Given the description of an element on the screen output the (x, y) to click on. 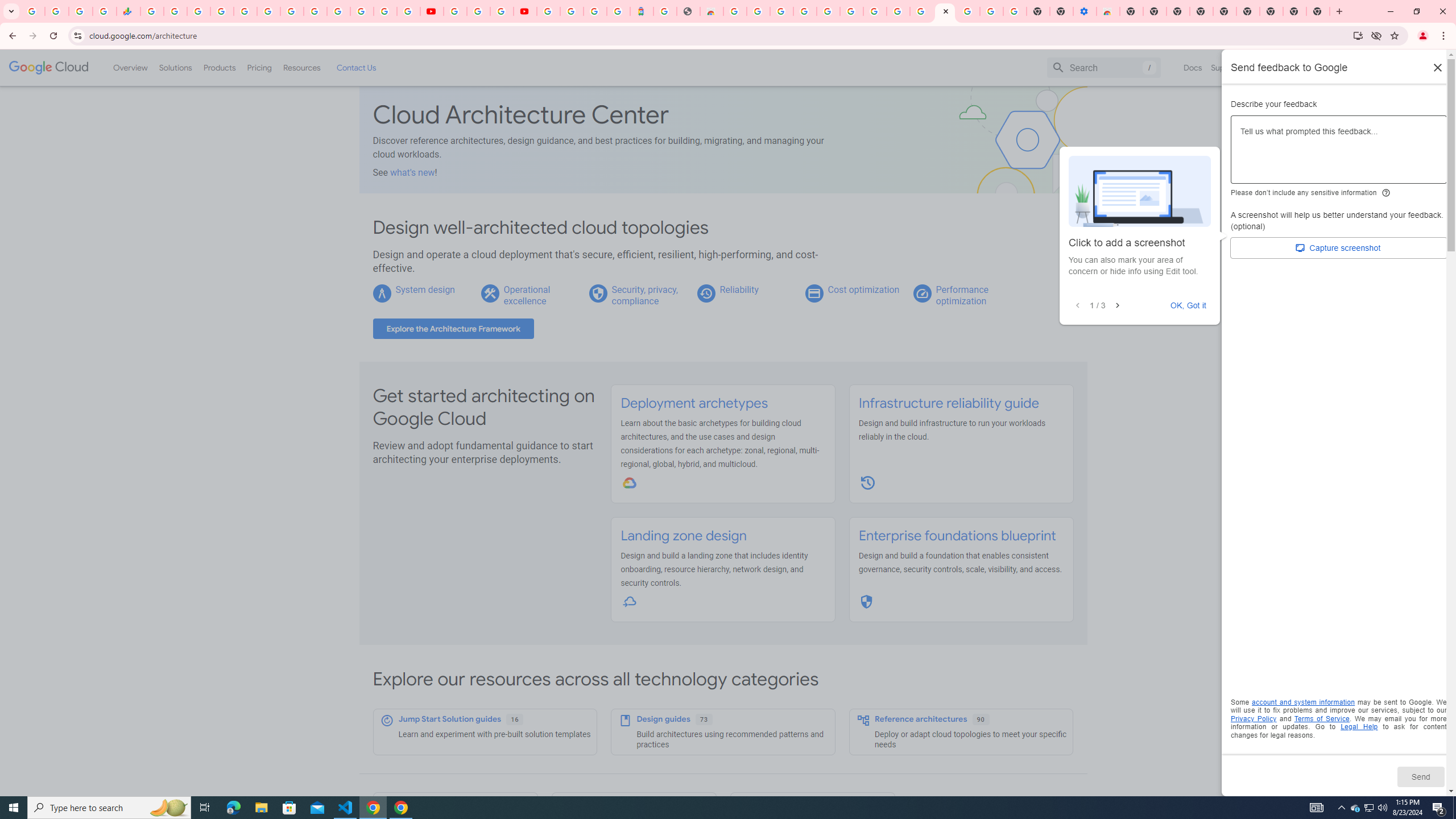
Contact Us (355, 67)
Sign in - Google Accounts (827, 11)
Content Creator Programs & Opportunities - YouTube Creators (524, 11)
Install Google Cloud (1358, 35)
Previous (1078, 305)
Solutions (175, 67)
Google Account Help (478, 11)
Google Account Help (992, 11)
Infrastructure reliability guide (948, 402)
Create your Google Account (757, 11)
Deployment archetypes (694, 402)
